Given the description of an element on the screen output the (x, y) to click on. 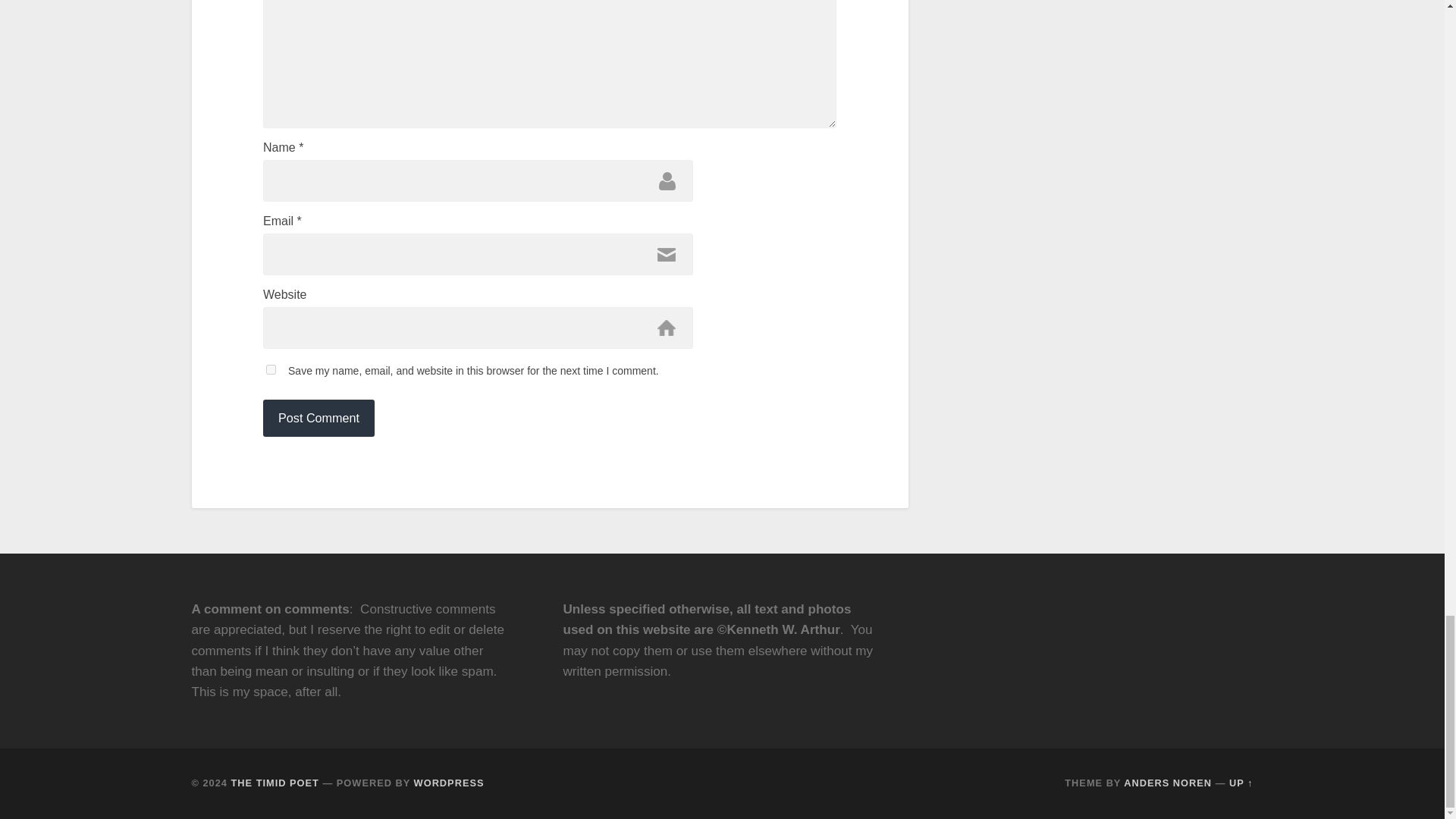
yes (271, 369)
Post Comment (318, 417)
